Given the description of an element on the screen output the (x, y) to click on. 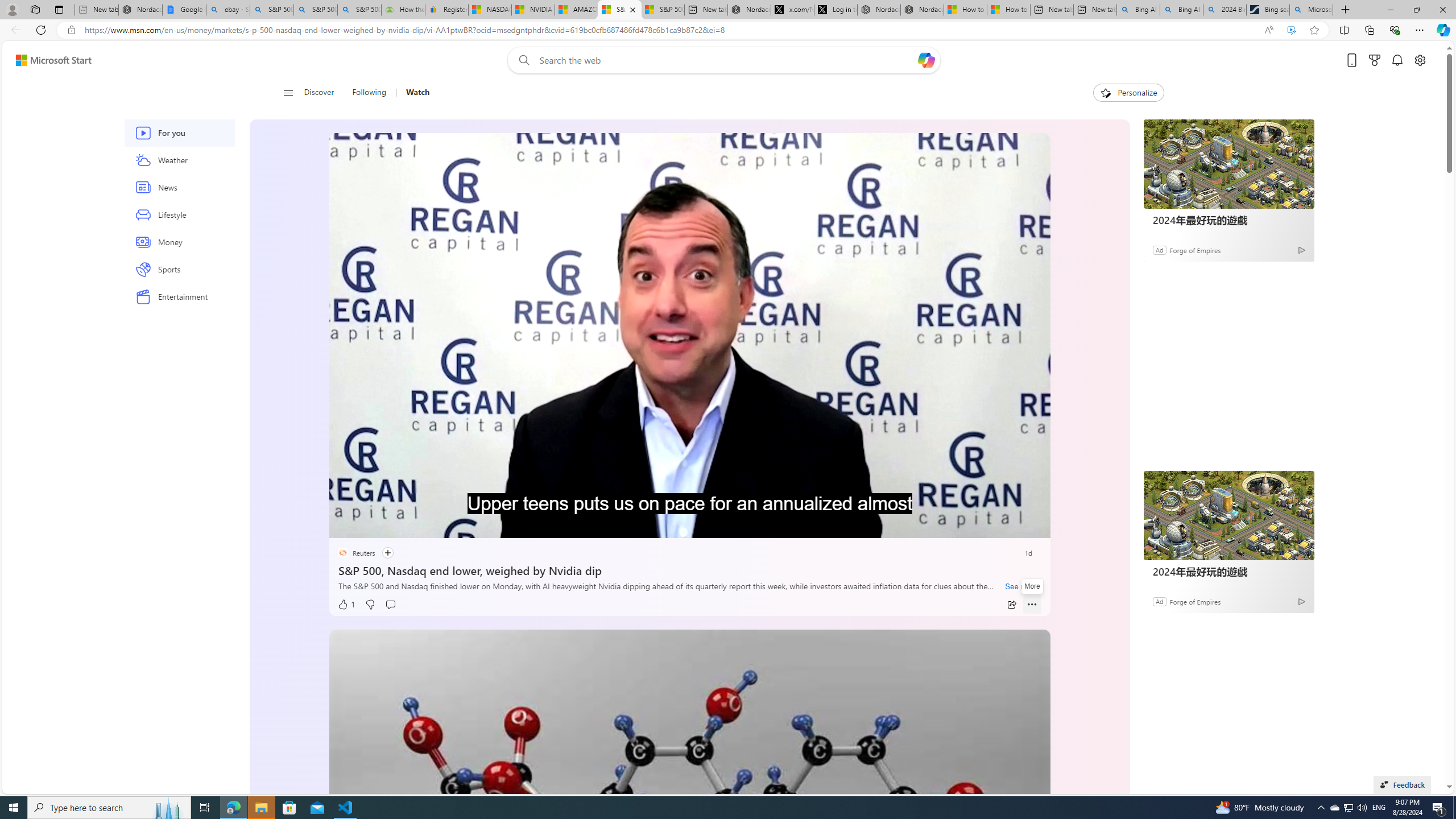
Enhance video (1291, 29)
x.com/NordaceOfficial (791, 9)
Pause (346, 525)
Open navigation menu (287, 92)
Share (1010, 604)
